Given the description of an element on the screen output the (x, y) to click on. 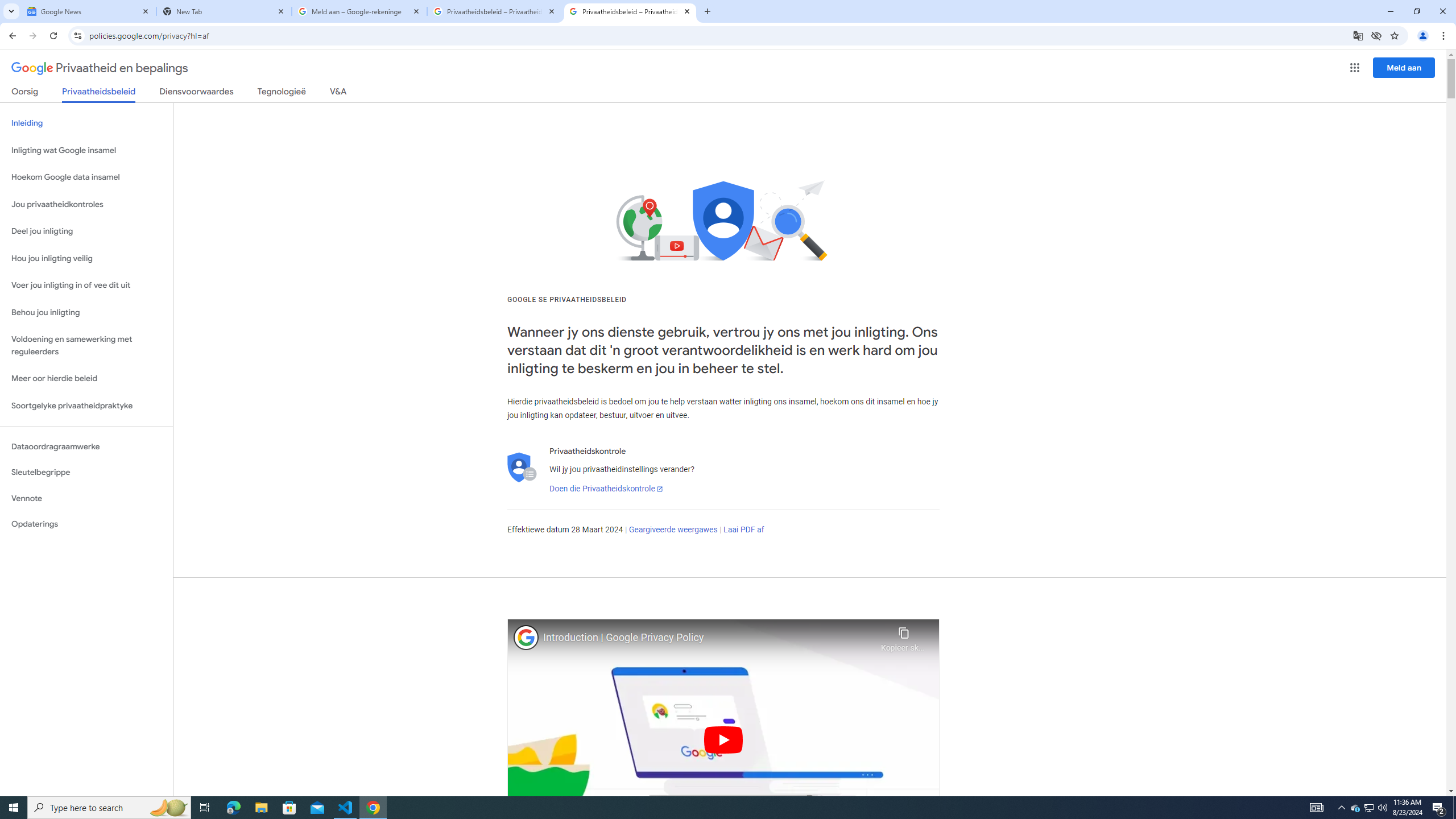
Insert Index... (813, 72)
Insert Footnote (195, 92)
Play (749, 149)
